Given the description of an element on the screen output the (x, y) to click on. 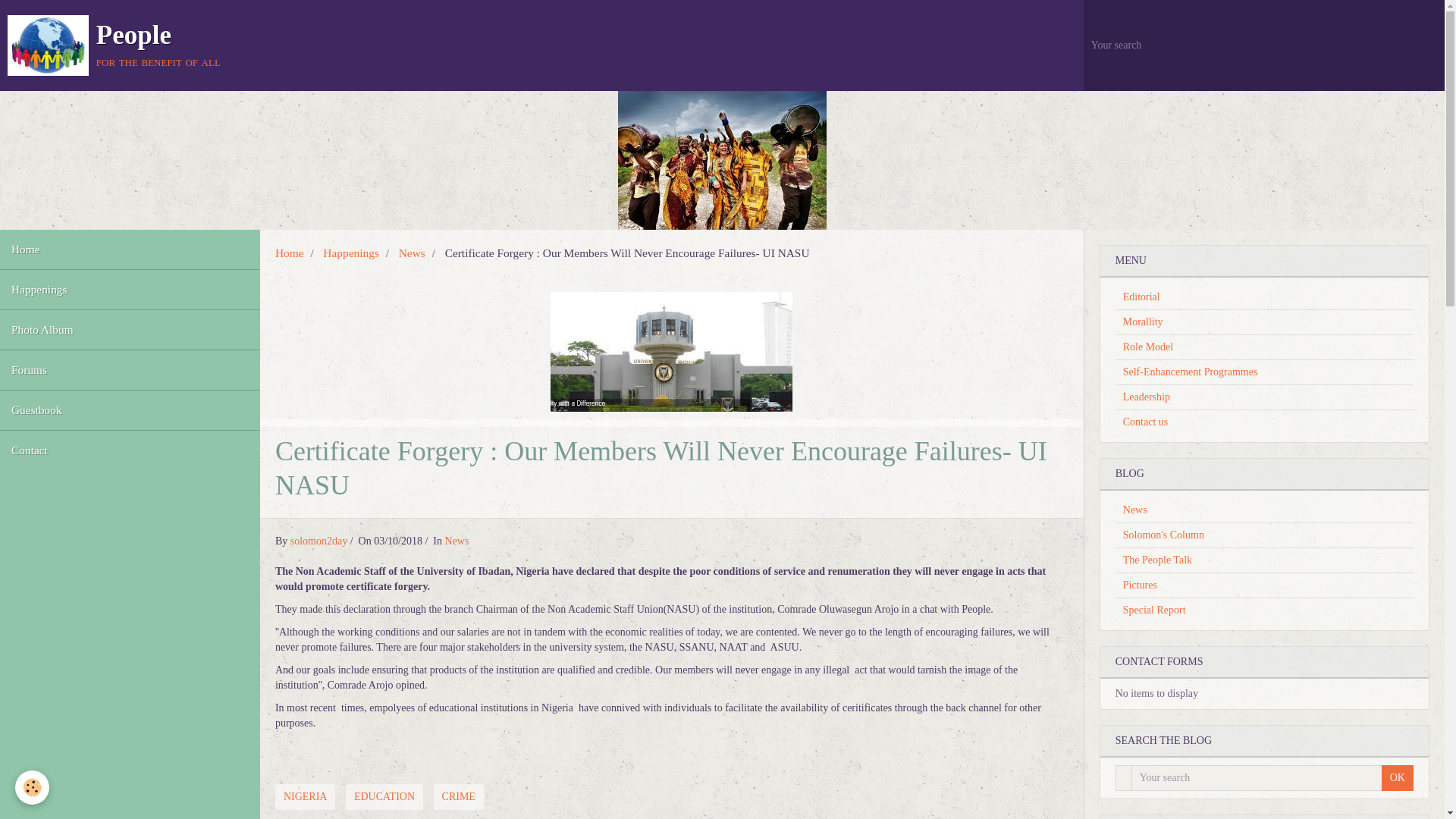
Role Model (1264, 346)
Happenings (130, 289)
Guestbook (130, 409)
Pictures (1264, 585)
Solomon's Column (1264, 535)
Contact us (1264, 422)
Forums (130, 369)
Special Report (1264, 610)
Morallity (1264, 322)
Photo Album (130, 329)
Home (289, 252)
Happenings (350, 252)
News (456, 541)
